Given the description of an element on the screen output the (x, y) to click on. 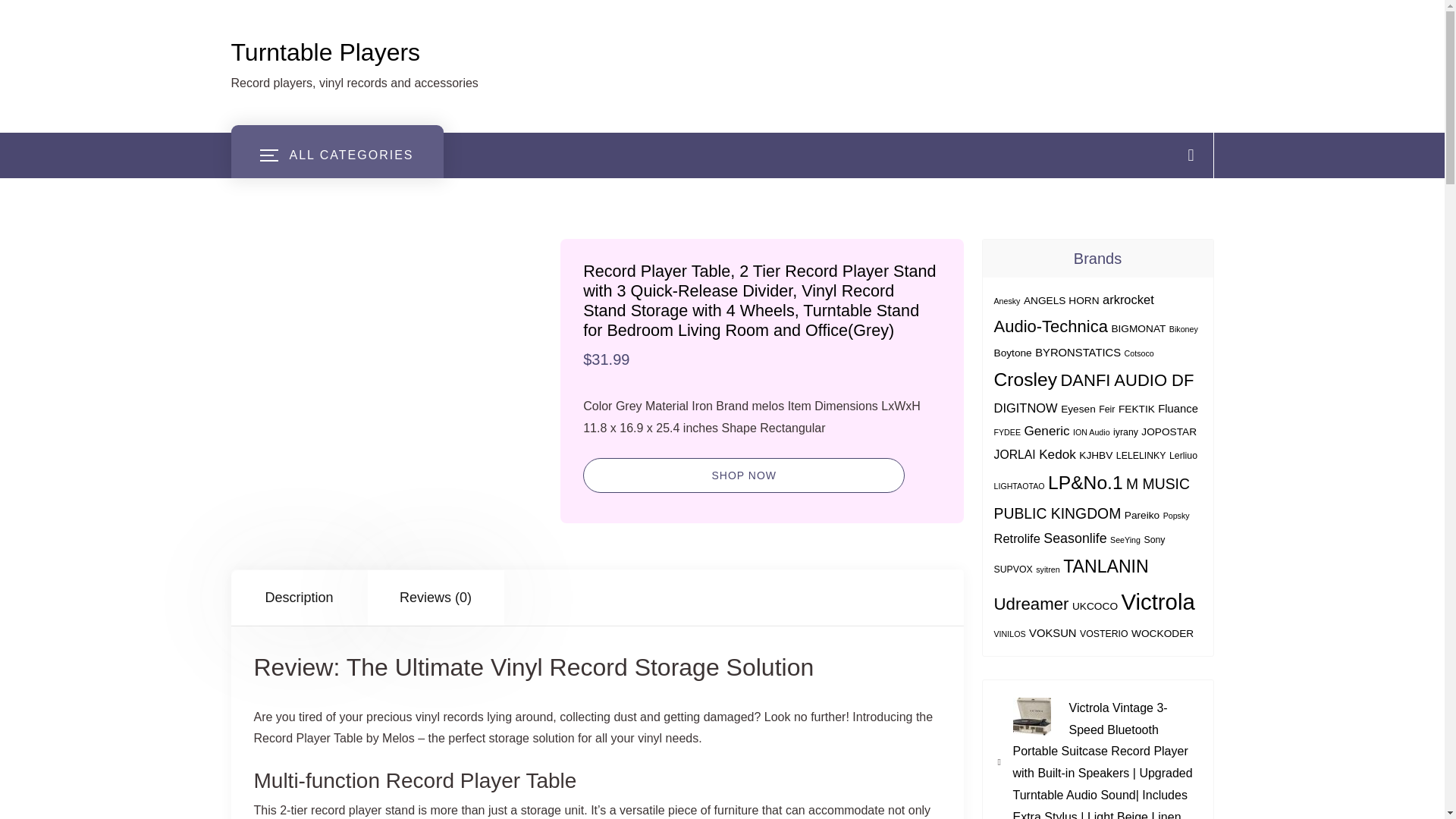
ANGELS HORN (1061, 300)
Anesky (1006, 300)
Description (298, 597)
SHOP NOW (743, 475)
ALL CATEGORIES (336, 155)
Turntable Players (325, 52)
